Given the description of an element on the screen output the (x, y) to click on. 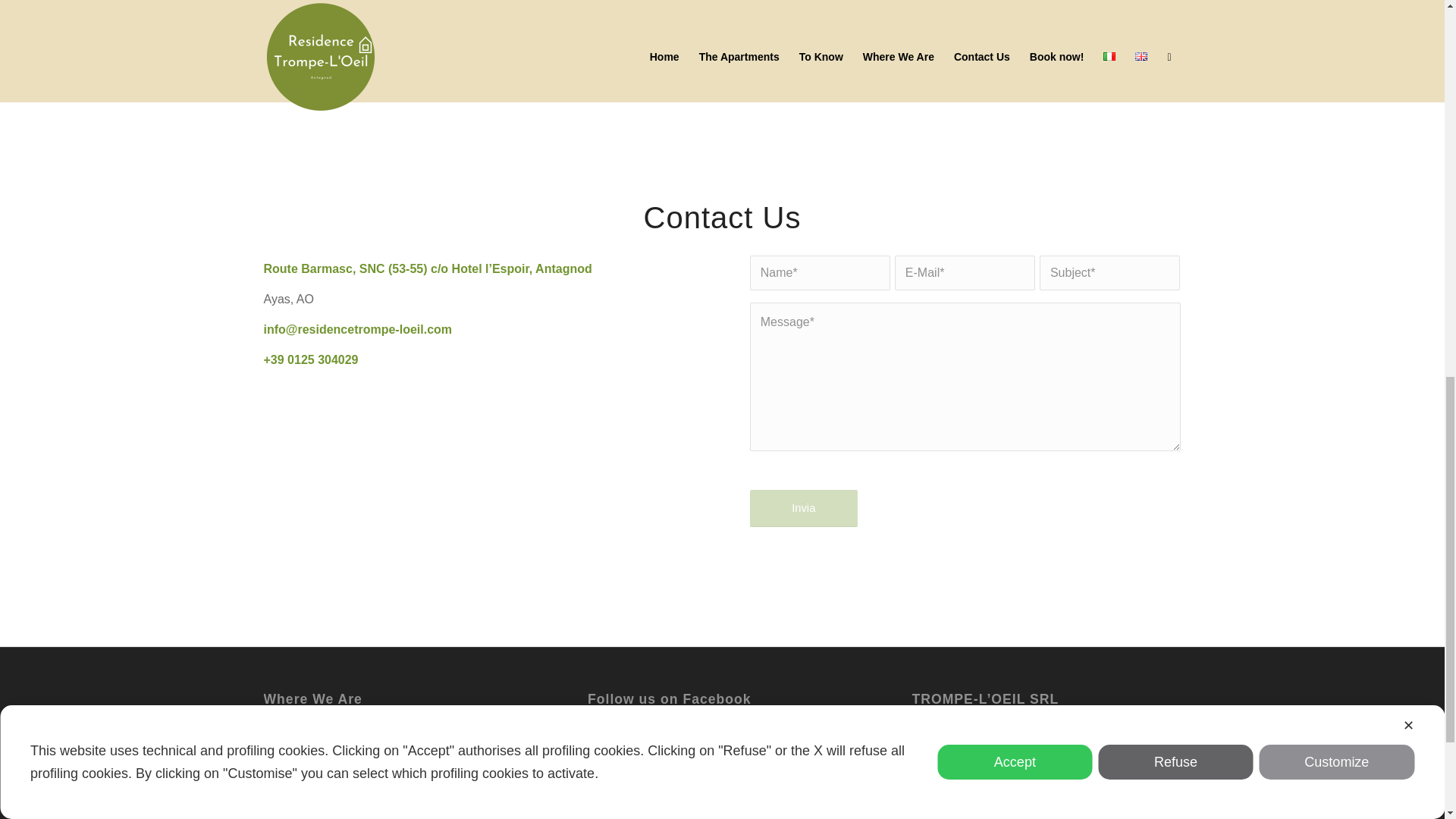
Invia (803, 508)
Follow us on Facebook (652, 796)
Please validate that you are a human first (803, 508)
